Given the description of an element on the screen output the (x, y) to click on. 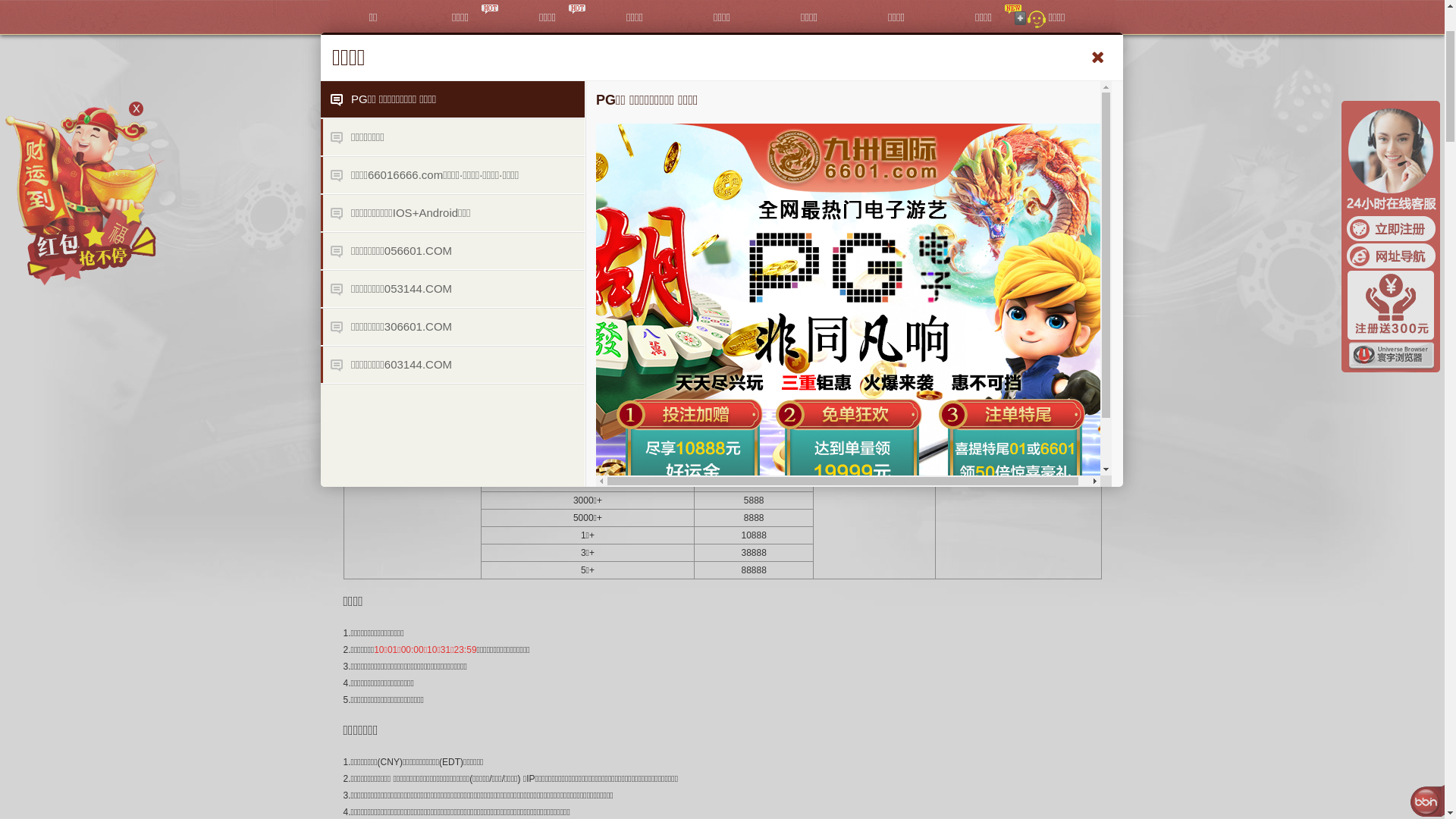
English Element type: hover (1090, 15)
